Given the description of an element on the screen output the (x, y) to click on. 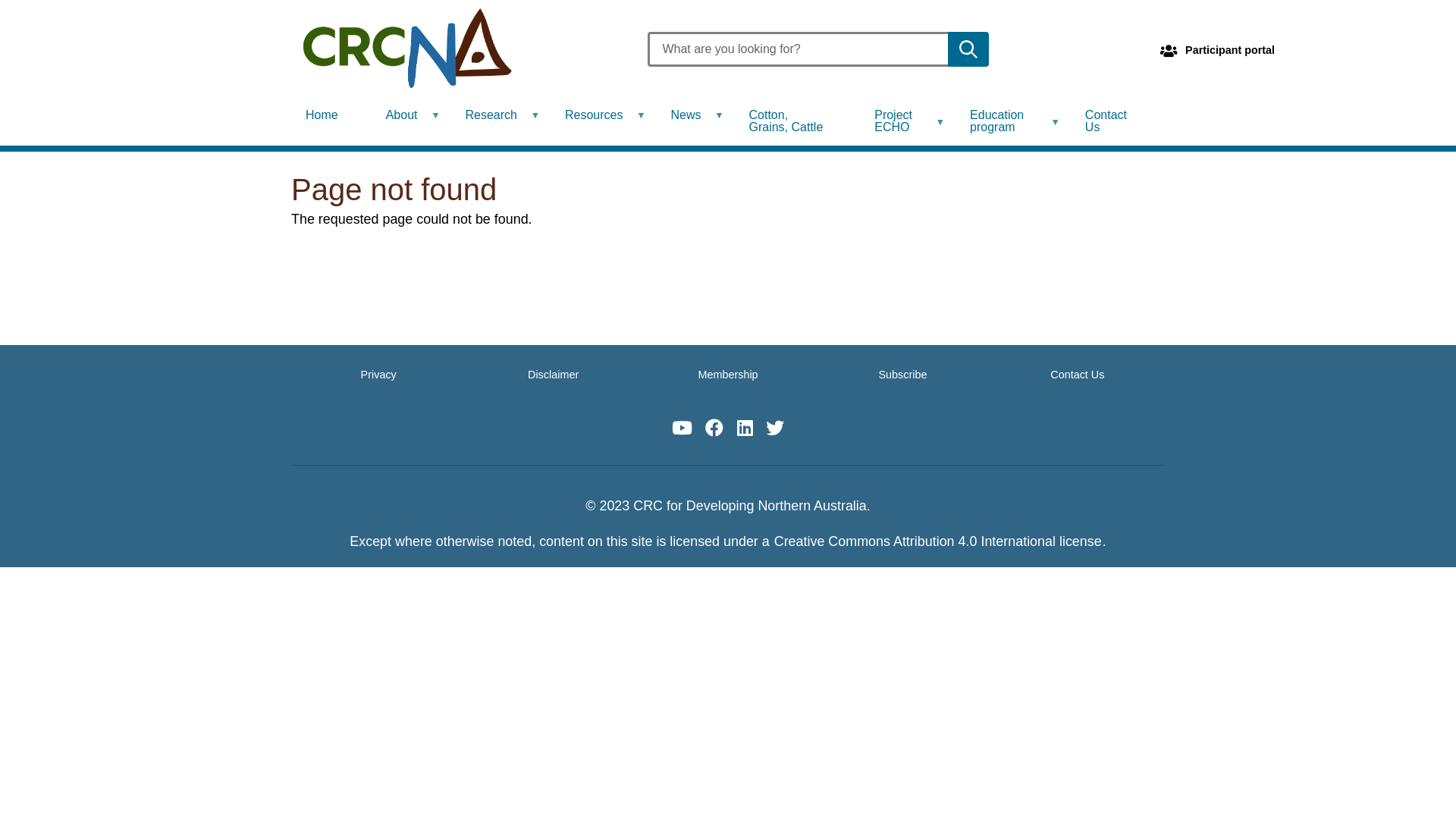
Cotton, Grains, Cattle Element type: text (793, 121)
Subscribe Element type: text (902, 374)
Participant portal Element type: text (1229, 49)
Privacy Element type: text (378, 374)
Disclaimer Element type: text (553, 374)
Home Element type: text (327, 115)
Creative Commons Attribution 4.0 International license Element type: text (937, 541)
Skip to main content Element type: text (0, 0)
Search Element type: text (967, 48)
Contact Us Element type: text (1076, 374)
Home Element type: hover (460, 48)
Membership Element type: text (727, 374)
Contact Us Element type: text (1112, 121)
